Given the description of an element on the screen output the (x, y) to click on. 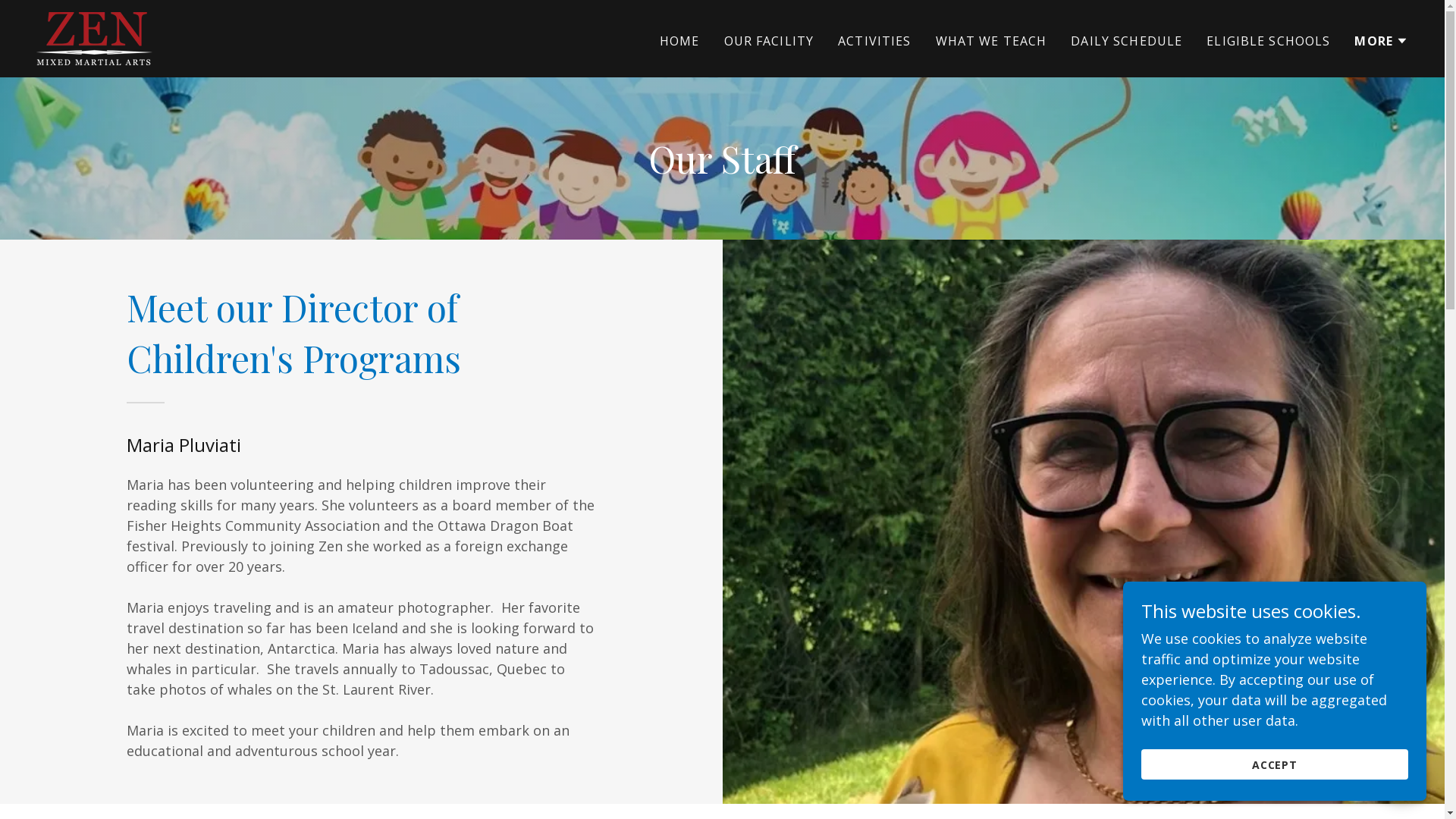
MORE Element type: text (1381, 40)
HOME Element type: text (679, 40)
WHAT WE TEACH Element type: text (991, 40)
ACTIVITIES Element type: text (874, 40)
ACCEPT Element type: text (1274, 764)
ELIGIBLE SCHOOLS Element type: text (1267, 40)
OUR FACILITY Element type: text (769, 40)
Zen After School Program Element type: hover (94, 37)
DAILY SCHEDULE Element type: text (1126, 40)
